Given the description of an element on the screen output the (x, y) to click on. 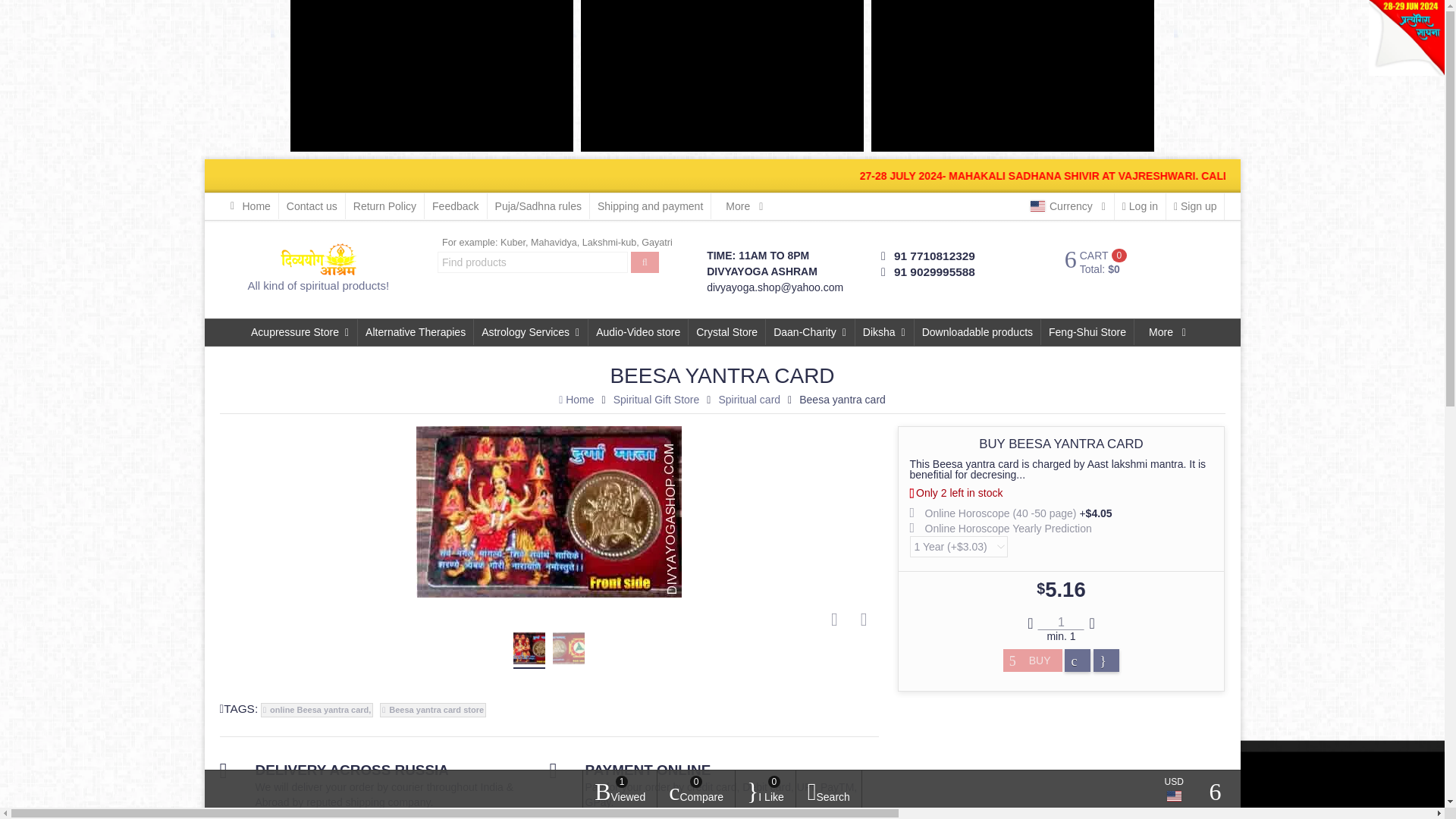
Shipping and payment (650, 206)
1 (1060, 622)
Feedback (455, 206)
Currency  (1069, 206)
Return Policy (385, 206)
More (744, 206)
Contact us (312, 206)
Contact us (312, 206)
Return Policy (385, 206)
Feedback (455, 206)
Shipping and payment (650, 206)
Home (249, 206)
